Given the description of an element on the screen output the (x, y) to click on. 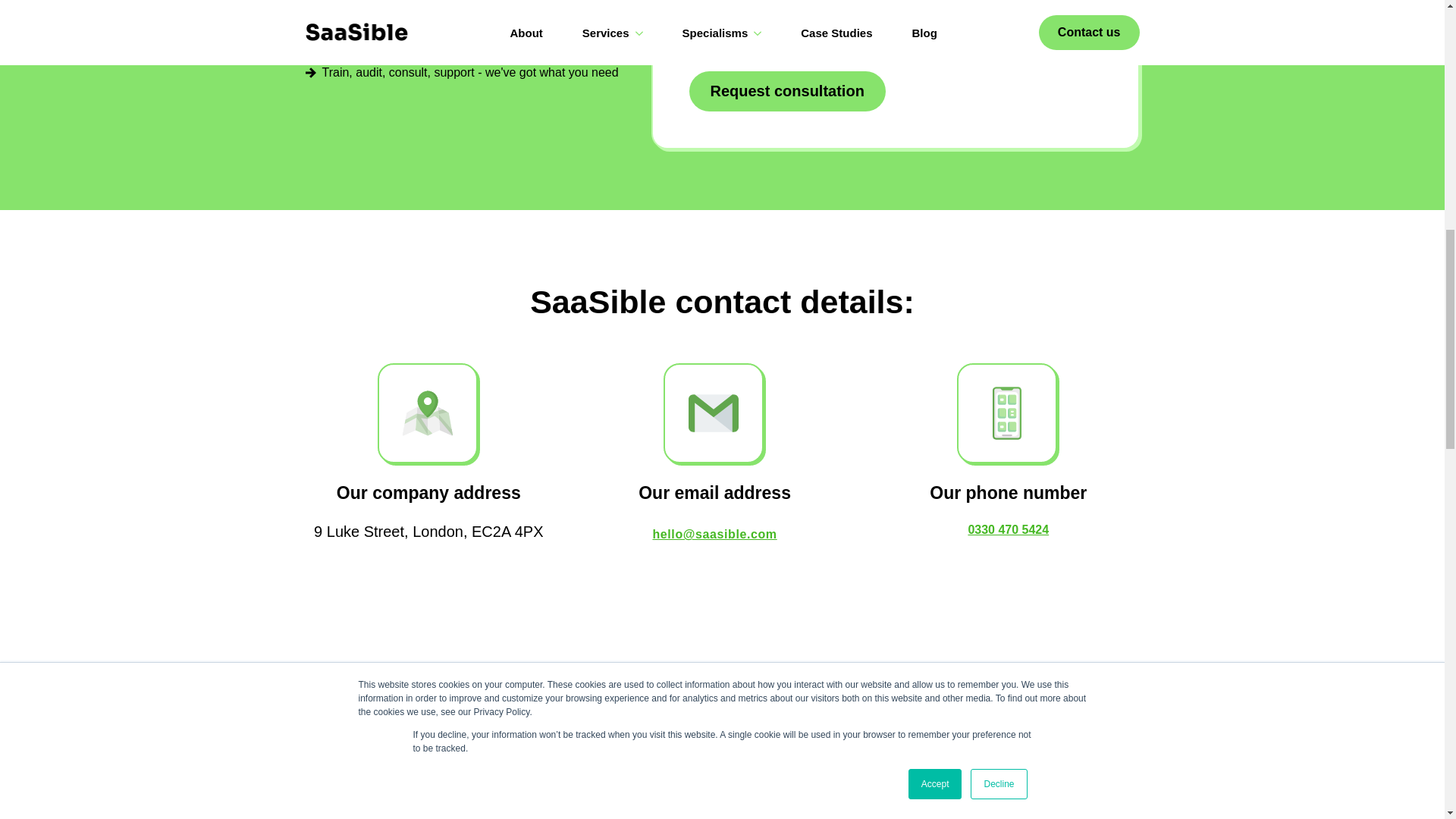
true (699, 35)
Request consultation (786, 91)
Request consultation (786, 91)
